Given the description of an element on the screen output the (x, y) to click on. 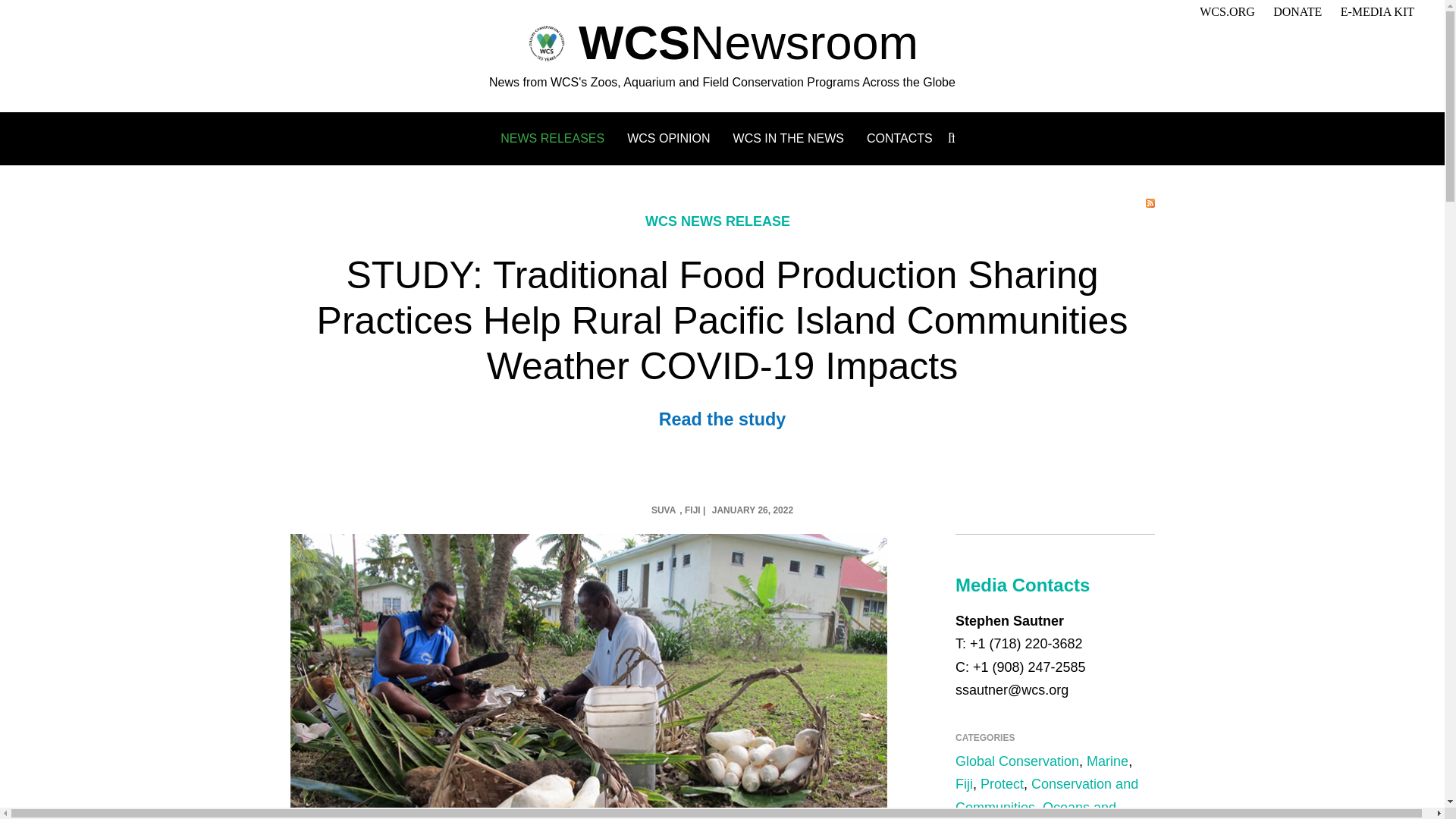
WCS.ORG (1226, 11)
WCS OPINION (668, 138)
DONATE (1297, 11)
Conservation and Communities (1046, 795)
Marine (1107, 761)
Global Conservation (1016, 761)
Oceans and Fisheries (1035, 809)
CONTACTS (899, 138)
E-MEDIA KIT (1376, 11)
WCS IN THE NEWS (788, 138)
Read the study (722, 419)
Fiji (963, 783)
NEWS RELEASES (552, 138)
